Given the description of an element on the screen output the (x, y) to click on. 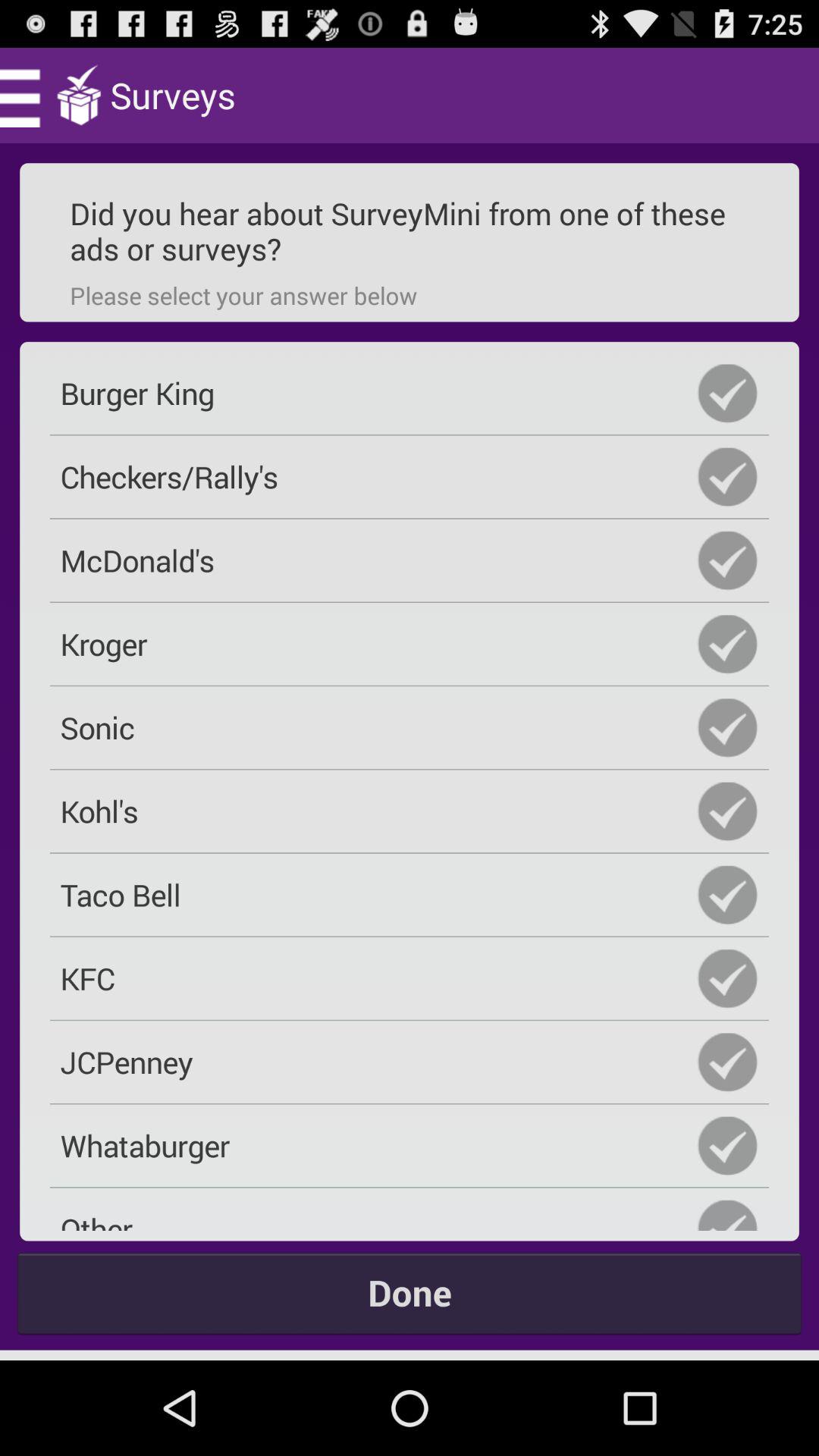
tap item below other icon (409, 1292)
